Given the description of an element on the screen output the (x, y) to click on. 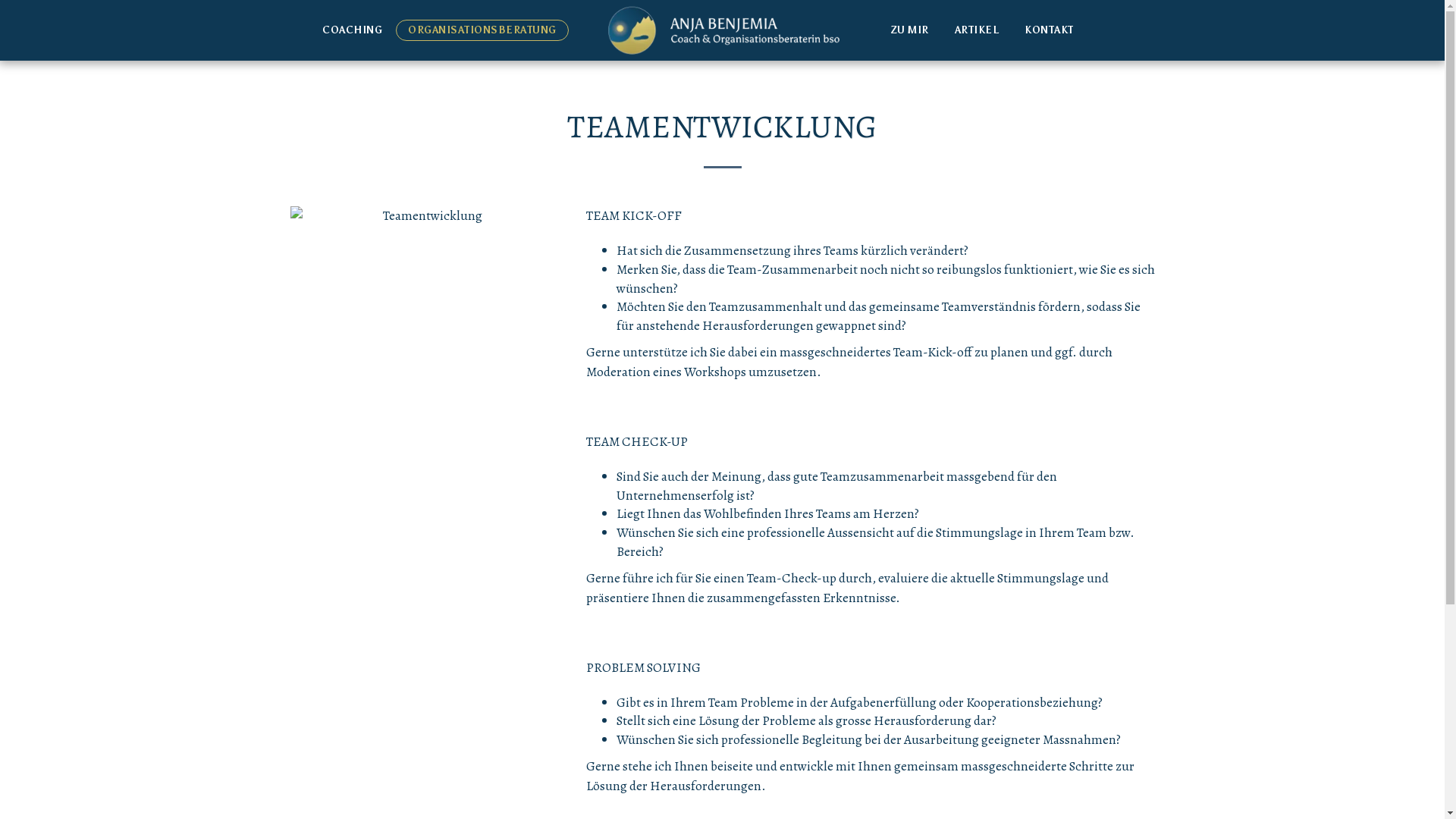
KONTAKT Element type: text (1048, 29)
ZU MIR Element type: text (909, 29)
ORGANISATIONSBERATUNG Element type: text (481, 29)
ARTIKEL Element type: text (976, 29)
COACHING Element type: text (352, 29)
